Given the description of an element on the screen output the (x, y) to click on. 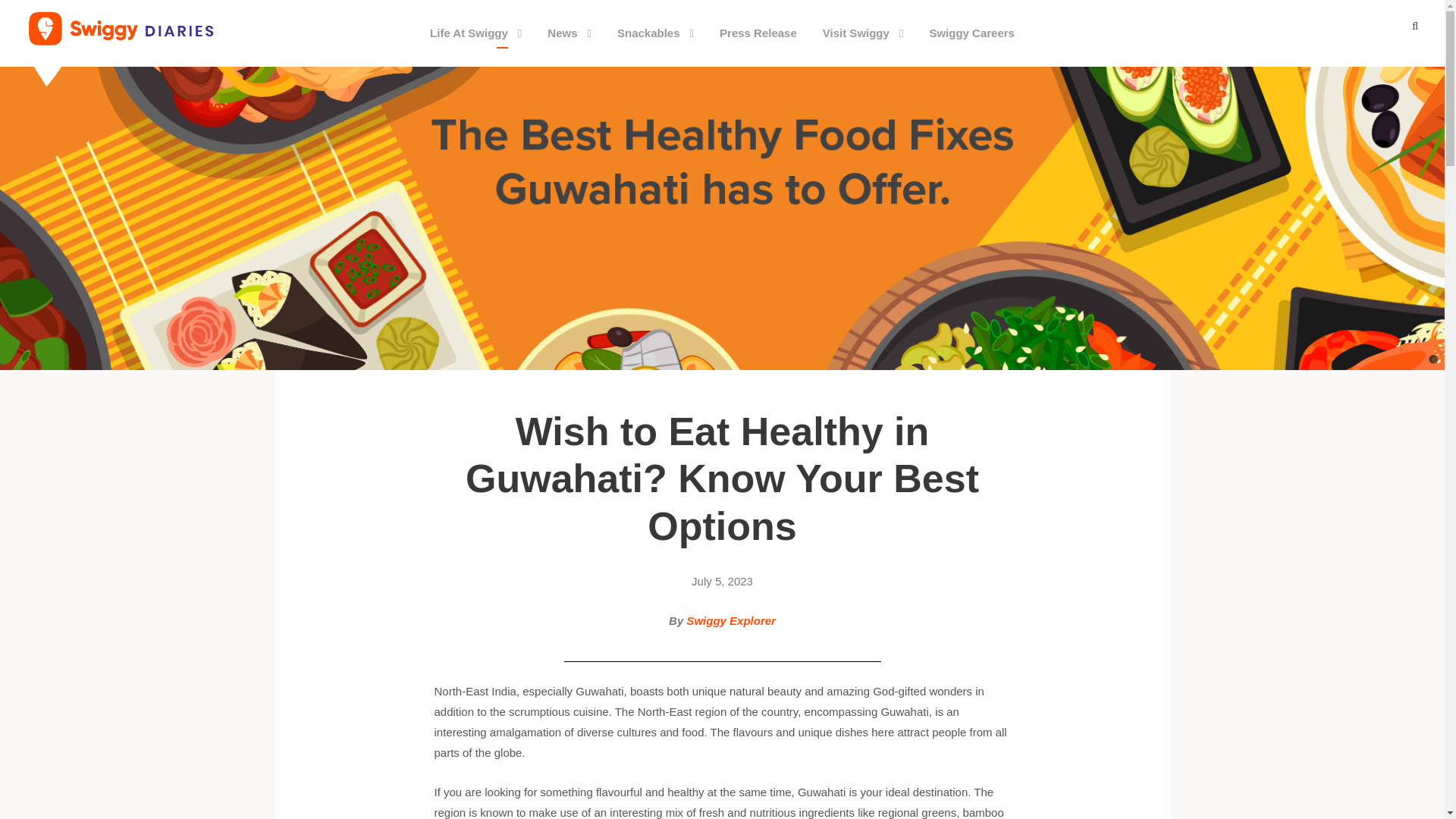
swiggy-new-logo (120, 28)
